Given the description of an element on the screen output the (x, y) to click on. 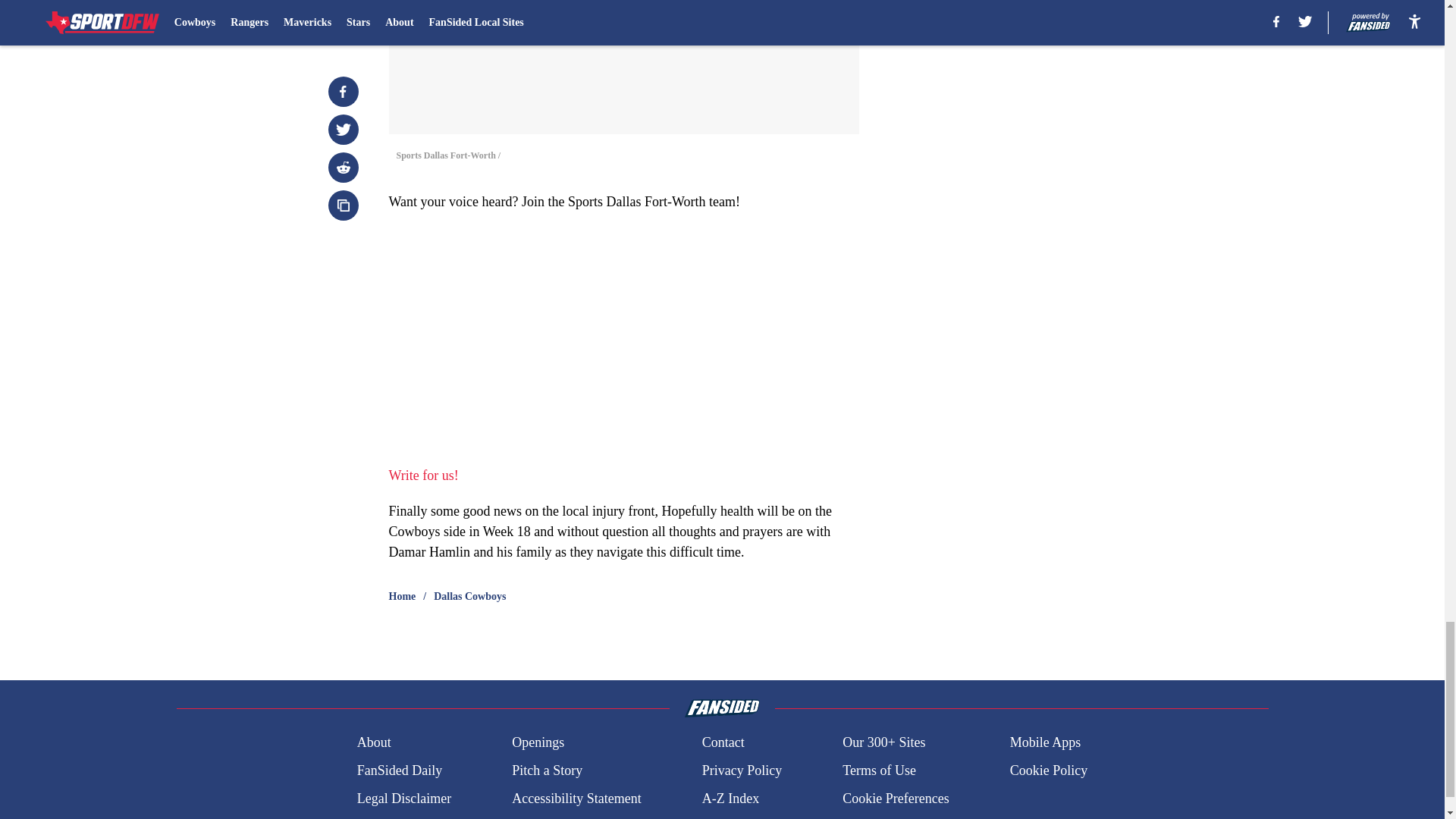
FanSided Daily (399, 770)
Privacy Policy (742, 770)
Legal Disclaimer (403, 798)
About (373, 742)
Cookie Policy (1048, 770)
Write for us! (423, 475)
Contact (722, 742)
Openings (538, 742)
Mobile Apps (1045, 742)
Terms of Use (879, 770)
